Given the description of an element on the screen output the (x, y) to click on. 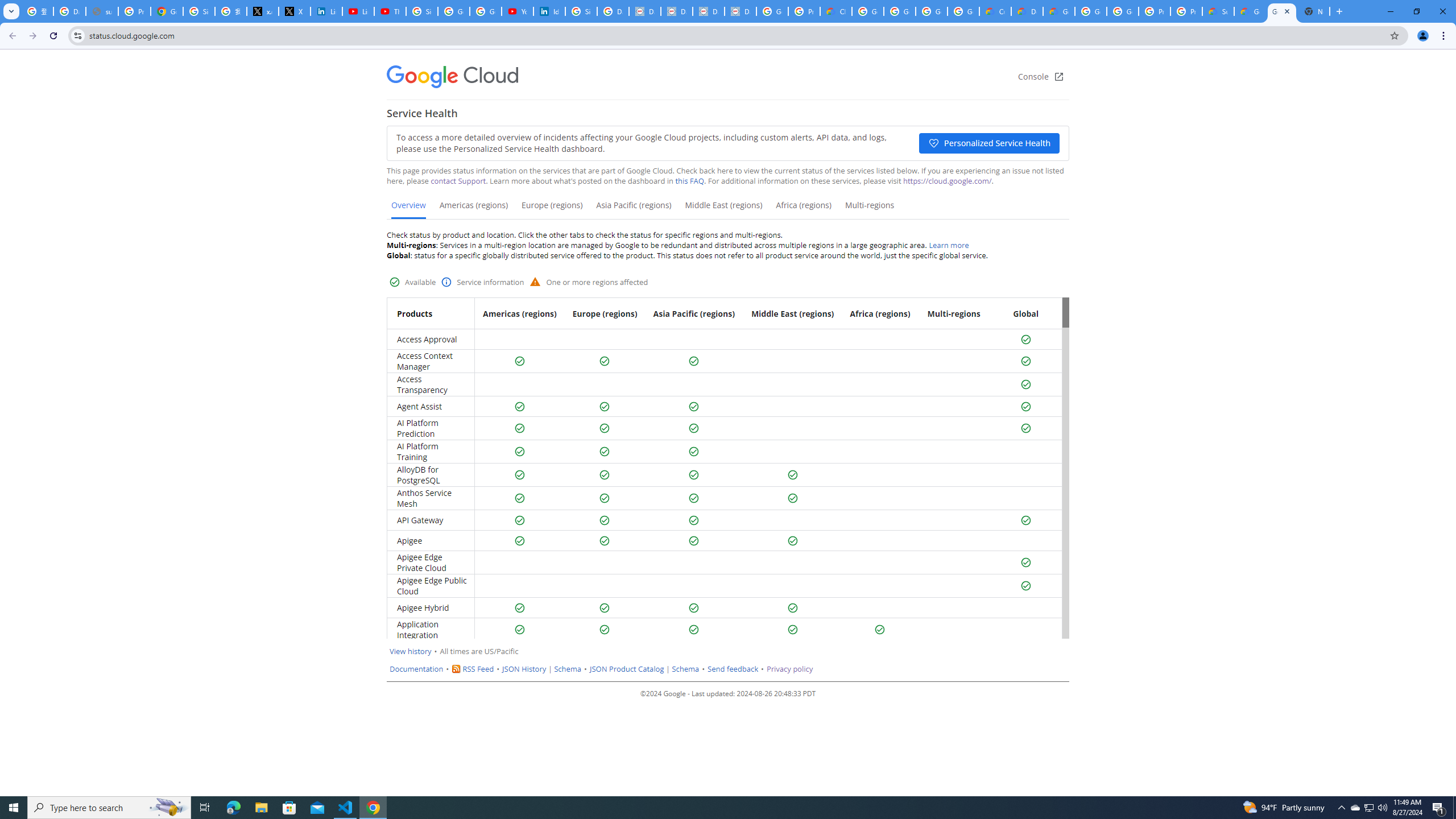
LinkedIn - YouTube (358, 11)
Cloud Data Processing Addendum | Google Cloud (836, 11)
Learn more (948, 244)
Asia Pacific (regions) (633, 209)
Schema (684, 668)
Gemini for Business and Developers | Google Cloud (1059, 11)
X (294, 11)
Console (1040, 76)
Warning status (535, 281)
Personalized Service Health (988, 142)
